Given the description of an element on the screen output the (x, y) to click on. 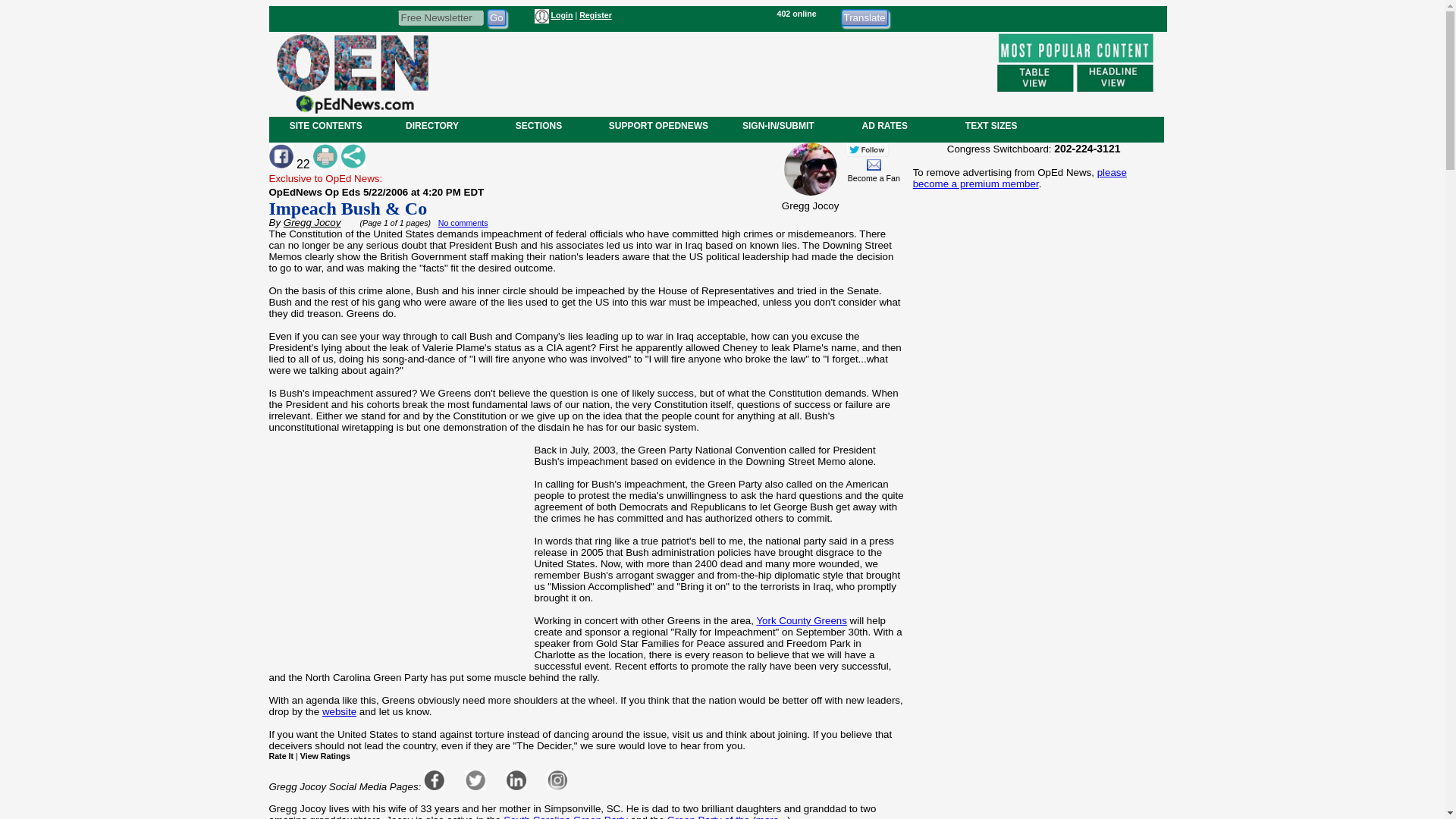
Twitter page url on login Profile not filled in (475, 780)
Advertisement (1032, 702)
SITE CONTENTS (325, 125)
Green Party of the (707, 816)
Register (595, 14)
Go (496, 17)
Advertisement (711, 71)
website (338, 711)
Message Gregg Jocoy (873, 164)
Translate (864, 17)
Follow Me on Twitter (866, 149)
DIRECTORY (431, 125)
Gregg Jocoy (311, 222)
Go (496, 17)
Translate (864, 17)
